Given the description of an element on the screen output the (x, y) to click on. 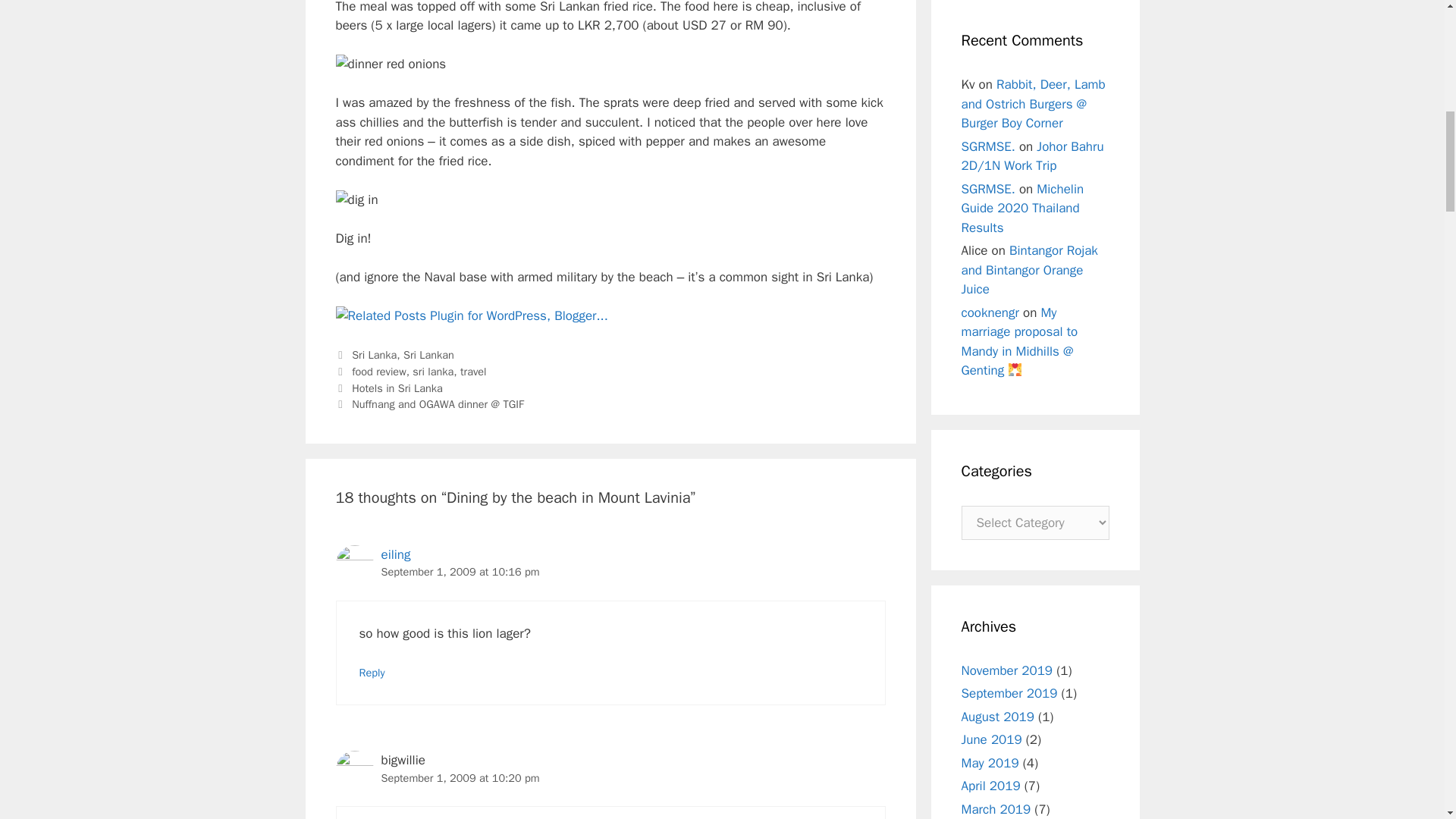
Previous (388, 387)
food review (379, 371)
Next (428, 404)
eiling (395, 554)
September 1, 2009 at 10:16 pm (459, 571)
September 1, 2009 at 10:20 pm (459, 777)
Sri Lankan (428, 354)
Hotels in Sri Lanka (397, 387)
Sri Lanka (374, 354)
Reply (372, 672)
sri lanka (432, 371)
travel (473, 371)
